Given the description of an element on the screen output the (x, y) to click on. 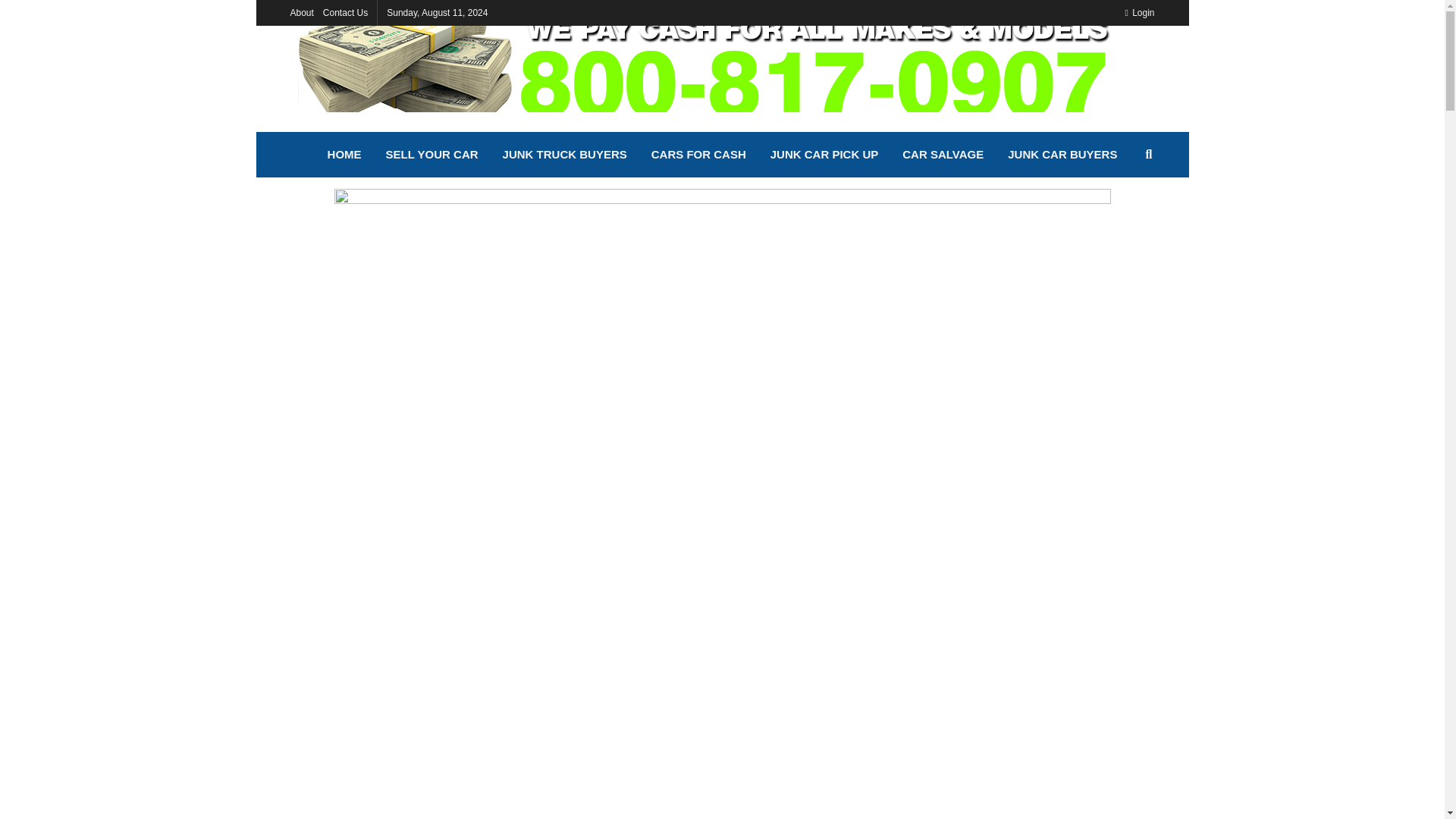
JUNK CAR PICK UP (824, 154)
SELL YOUR CAR (432, 154)
Contact Us (345, 12)
JUNK CAR BUYERS (1062, 154)
CAR SALVAGE (942, 154)
JUNK TRUCK BUYERS (564, 154)
About (301, 12)
Login (1139, 12)
HOME (344, 154)
CARS FOR CASH (698, 154)
